Given the description of an element on the screen output the (x, y) to click on. 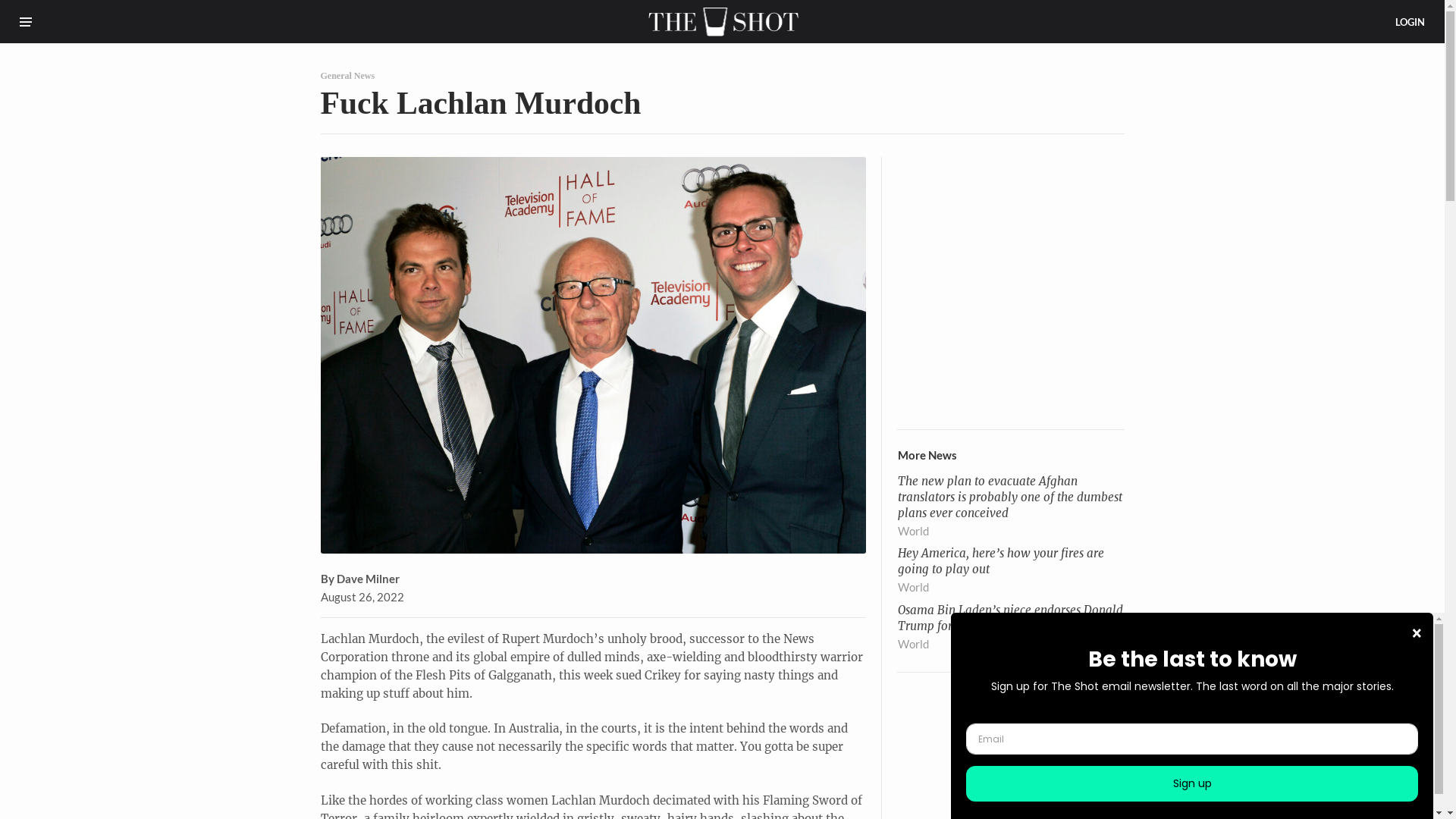
Profound and profane Element type: hover (723, 31)
Topics Element type: hover (35, 21)
General News Element type: text (347, 75)
LOGIN Element type: text (1409, 21)
